Given the description of an element on the screen output the (x, y) to click on. 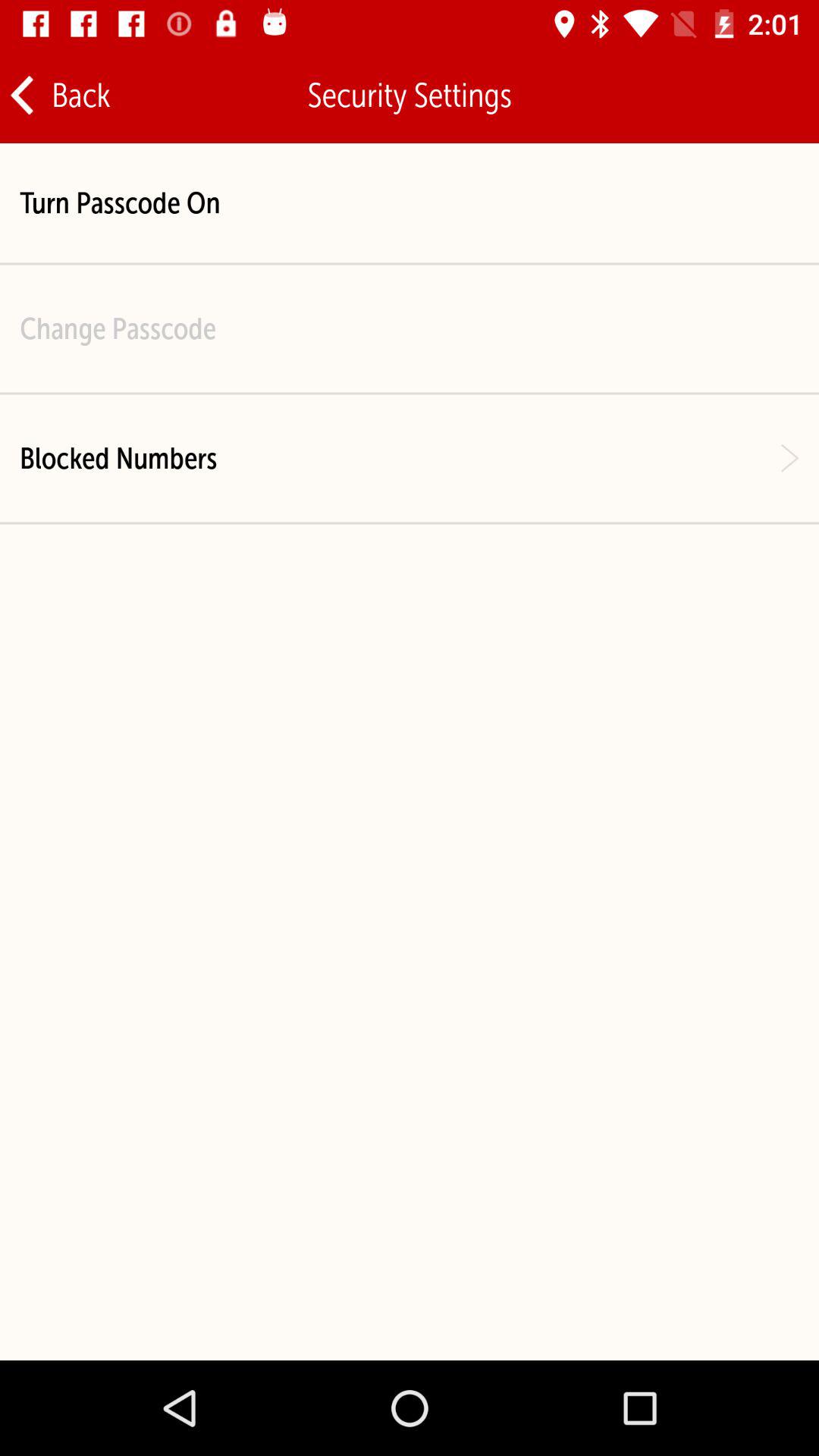
press the change passcode (117, 328)
